Given the description of an element on the screen output the (x, y) to click on. 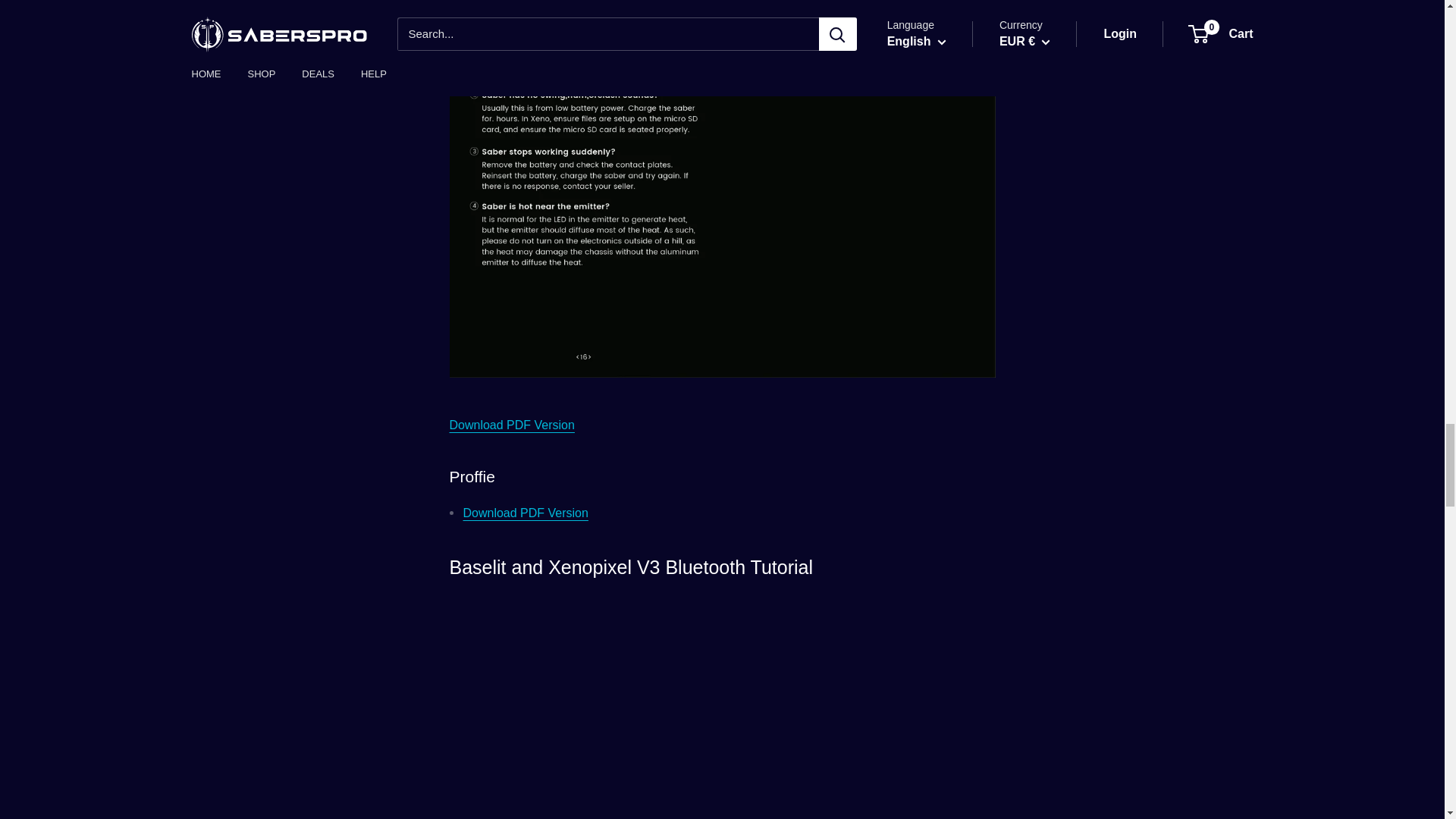
YouTube video player (721, 706)
Lightsaber PDF manual (510, 424)
Proffie lightsaber manual (525, 512)
